Given the description of an element on the screen output the (x, y) to click on. 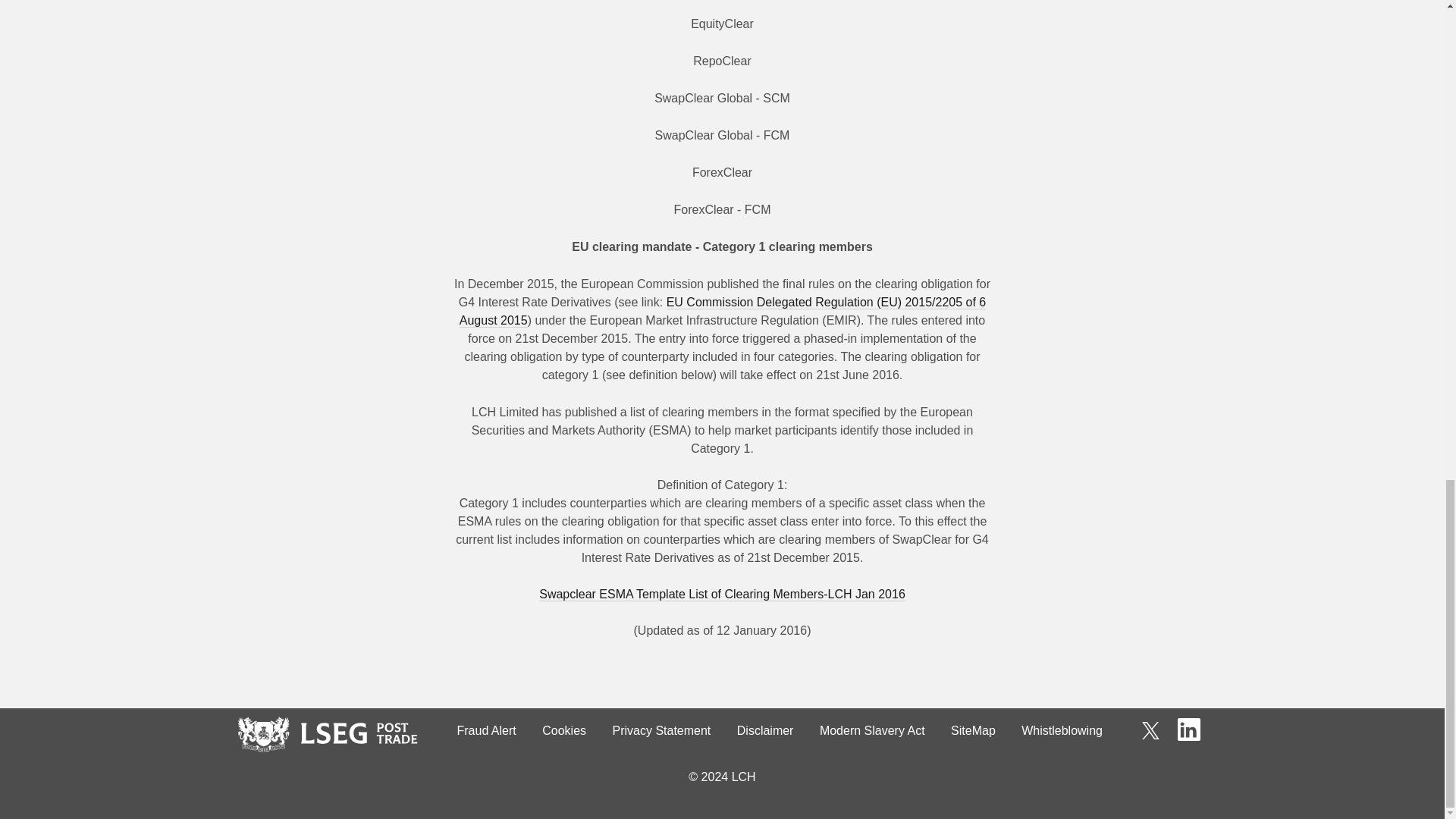
Fraud Alert (486, 730)
Disclaimer (765, 730)
Whistleblowing (1061, 730)
